Given the description of an element on the screen output the (x, y) to click on. 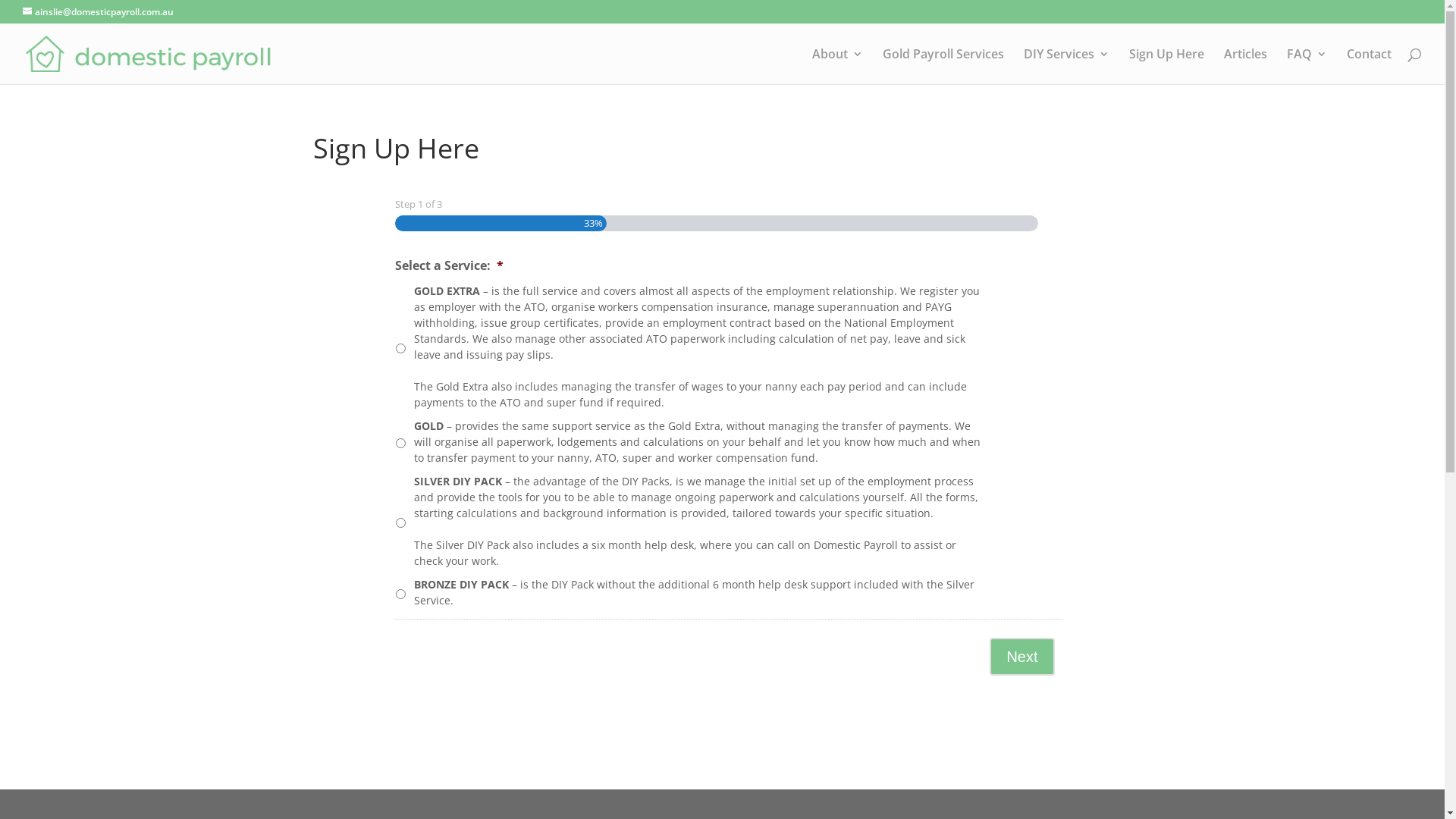
Next Element type: text (1021, 656)
About Element type: text (837, 66)
Articles Element type: text (1245, 66)
DIY Services Element type: text (1066, 66)
Gold Payroll Services Element type: text (943, 66)
Sign Up Here Element type: text (1166, 66)
Contact Element type: text (1368, 66)
ainslie@domesticpayroll.com.au Element type: text (97, 11)
FAQ Element type: text (1306, 66)
